Given the description of an element on the screen output the (x, y) to click on. 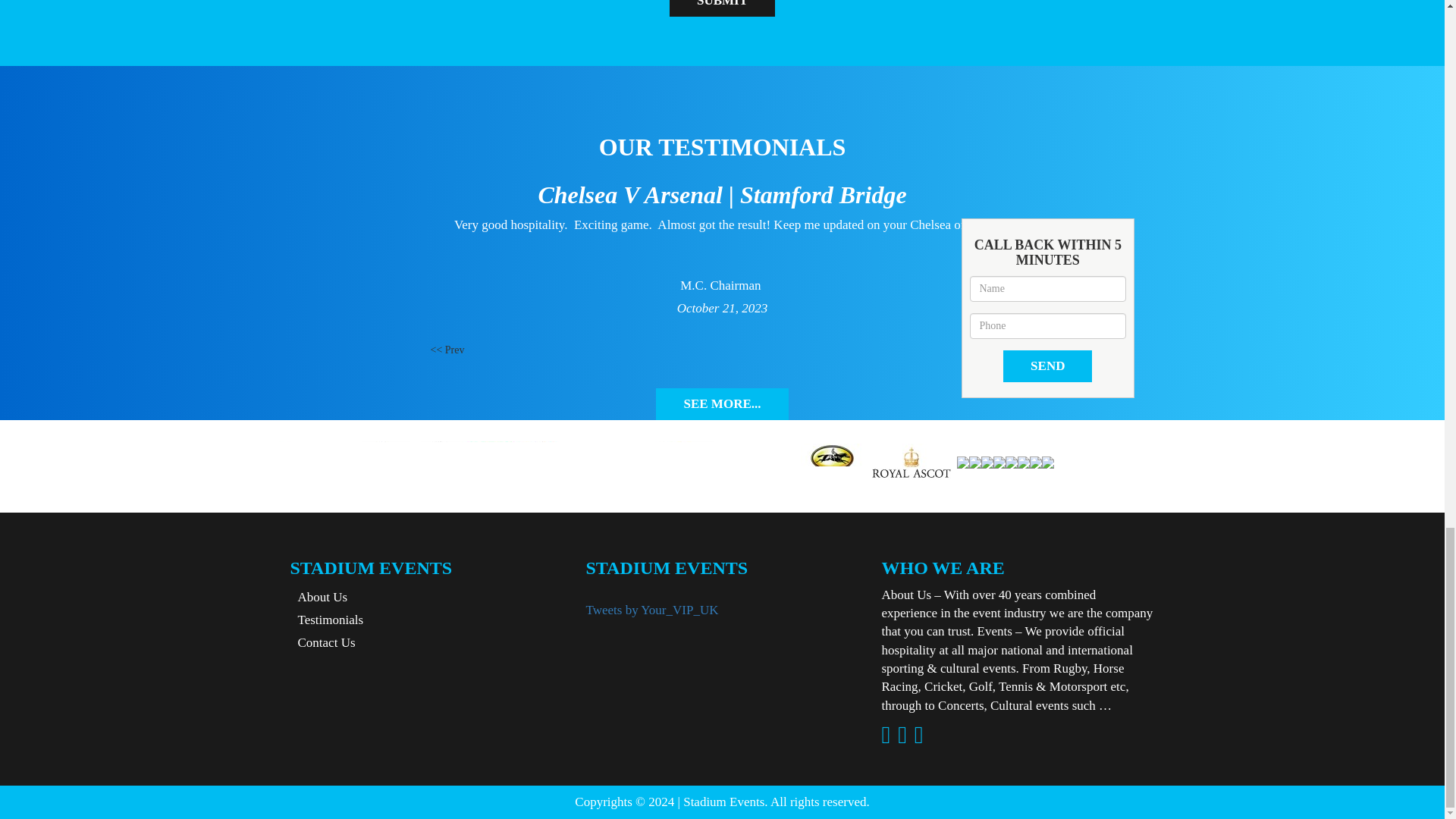
About Us (318, 596)
Contact Us (322, 642)
Submit (721, 8)
SEE MORE... (721, 404)
Testimonials (325, 619)
Submit (721, 8)
